Given the description of an element on the screen output the (x, y) to click on. 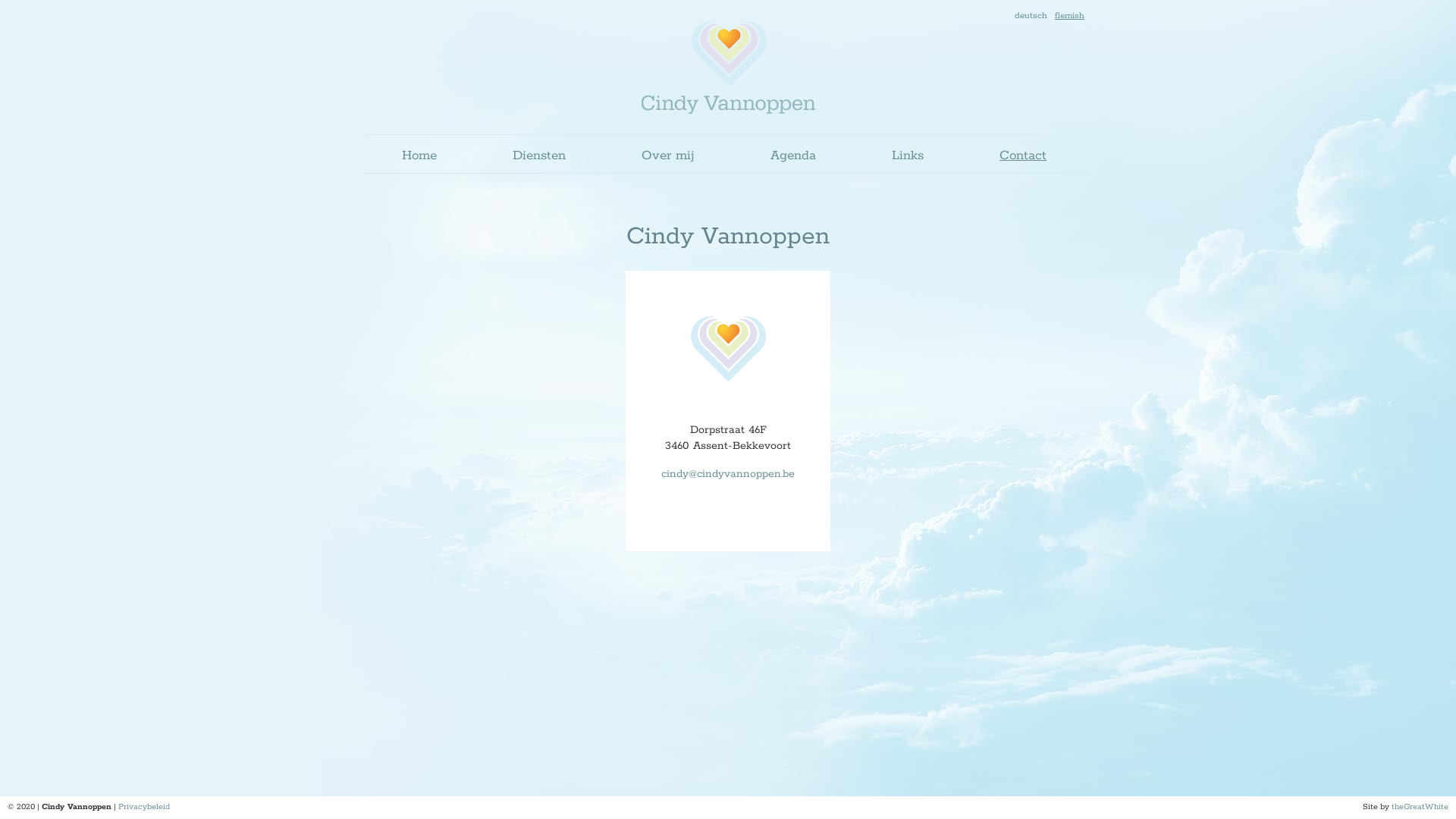
Links Element type: text (907, 153)
Over mij Element type: text (667, 153)
Agenda Element type: text (792, 153)
theGreatWhite Element type: text (1419, 806)
cindy@cindyvannoppen.be Element type: text (727, 473)
Home Element type: text (418, 153)
deutsch Element type: text (1030, 15)
Privacybeleid Element type: text (143, 806)
Diensten Element type: text (538, 153)
Contact Element type: text (1022, 153)
flemish Element type: text (1069, 15)
